Given the description of an element on the screen output the (x, y) to click on. 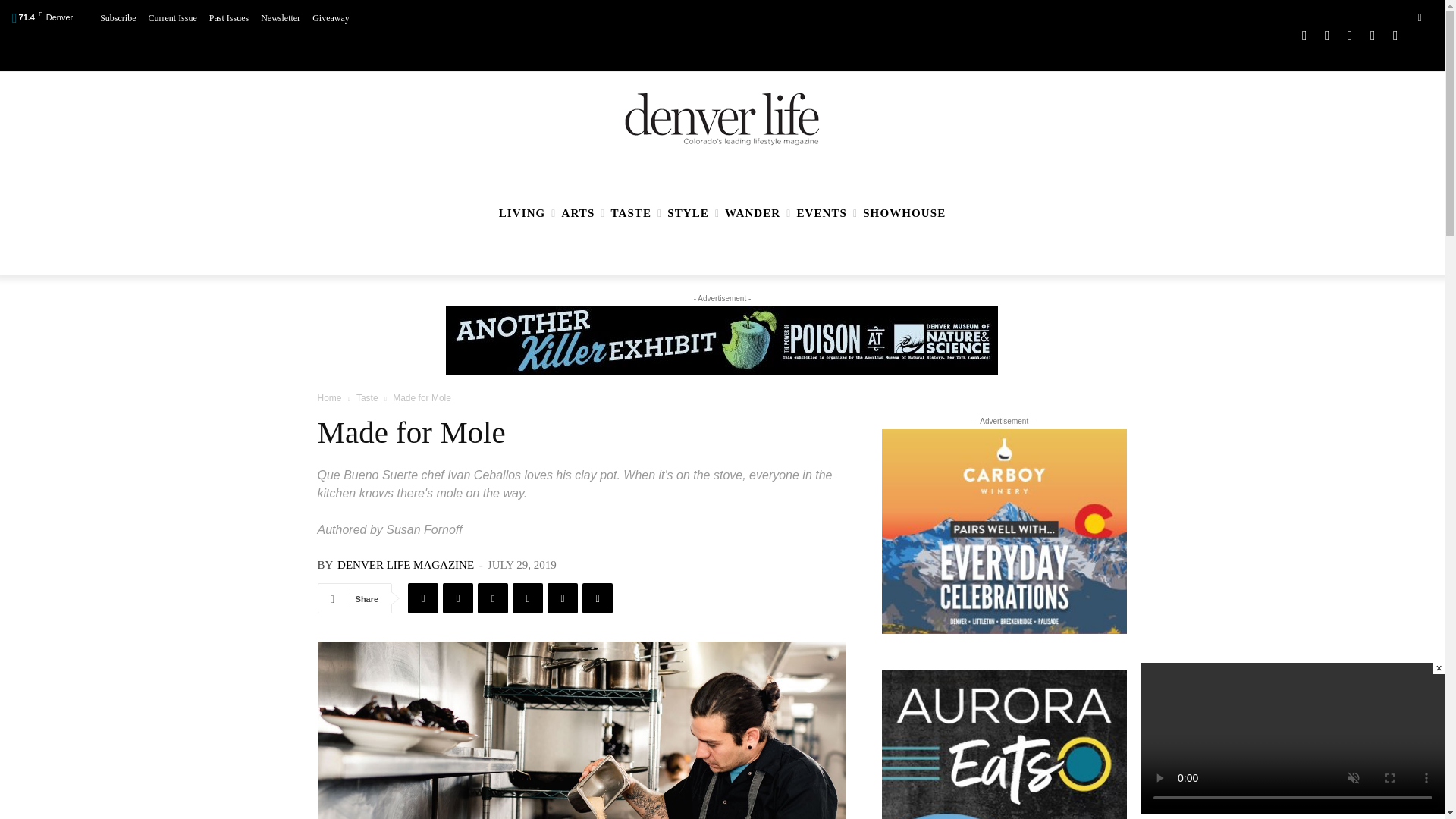
Twitter (1372, 36)
Giveaway (331, 17)
Newsletter (279, 17)
Pinterest (1349, 36)
ARTS (577, 213)
Youtube (1395, 36)
STYLE (687, 213)
Current Issue (172, 17)
TASTE (630, 213)
Past Issues (228, 17)
